Given the description of an element on the screen output the (x, y) to click on. 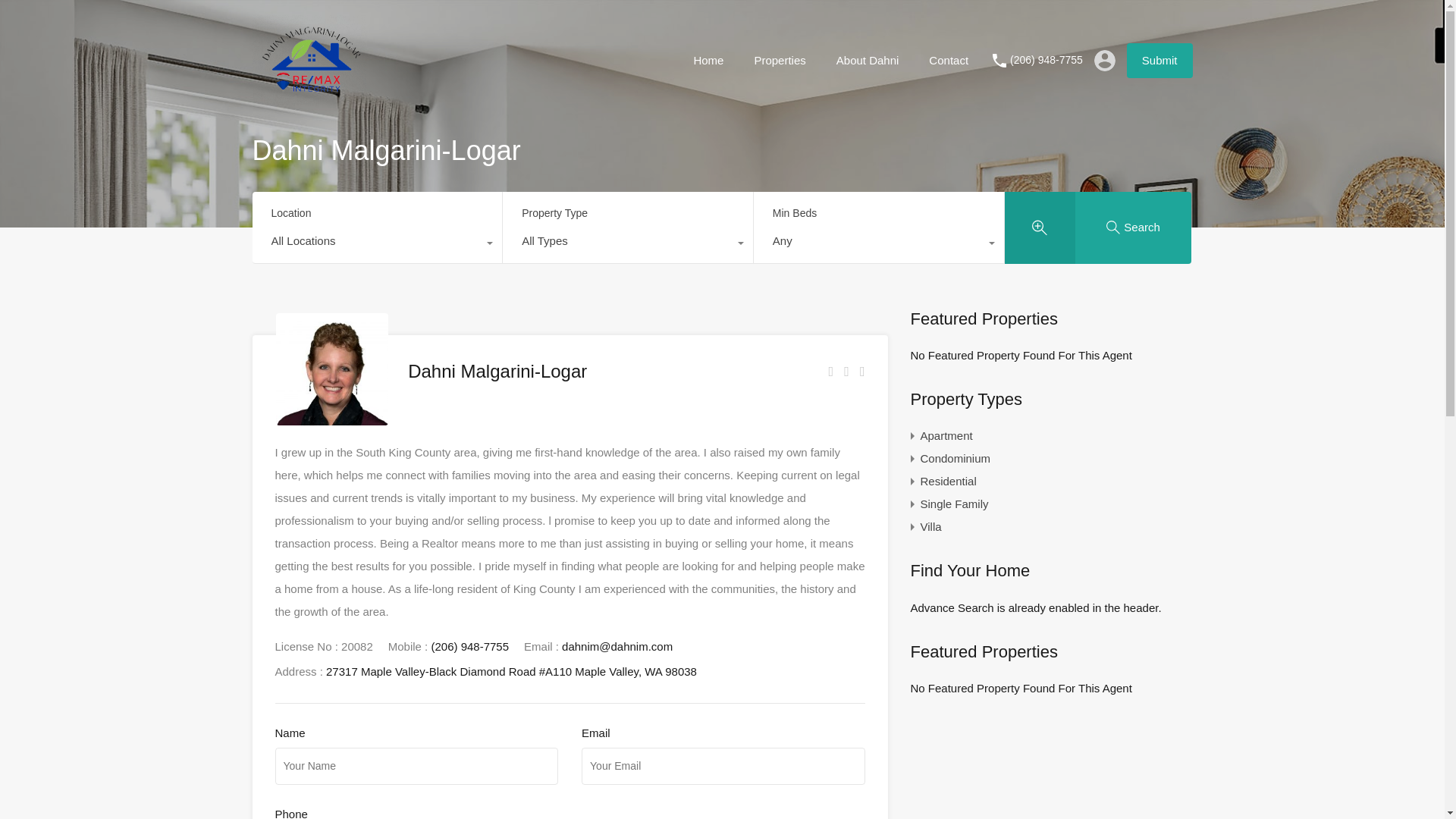
About Dahni (868, 59)
Properties (779, 59)
Condominium (955, 458)
Any (879, 244)
Contact (948, 59)
Submit (1159, 59)
Real Estate By Dahni (308, 97)
All Locations (376, 244)
Any (879, 244)
All Types (627, 244)
